Given the description of an element on the screen output the (x, y) to click on. 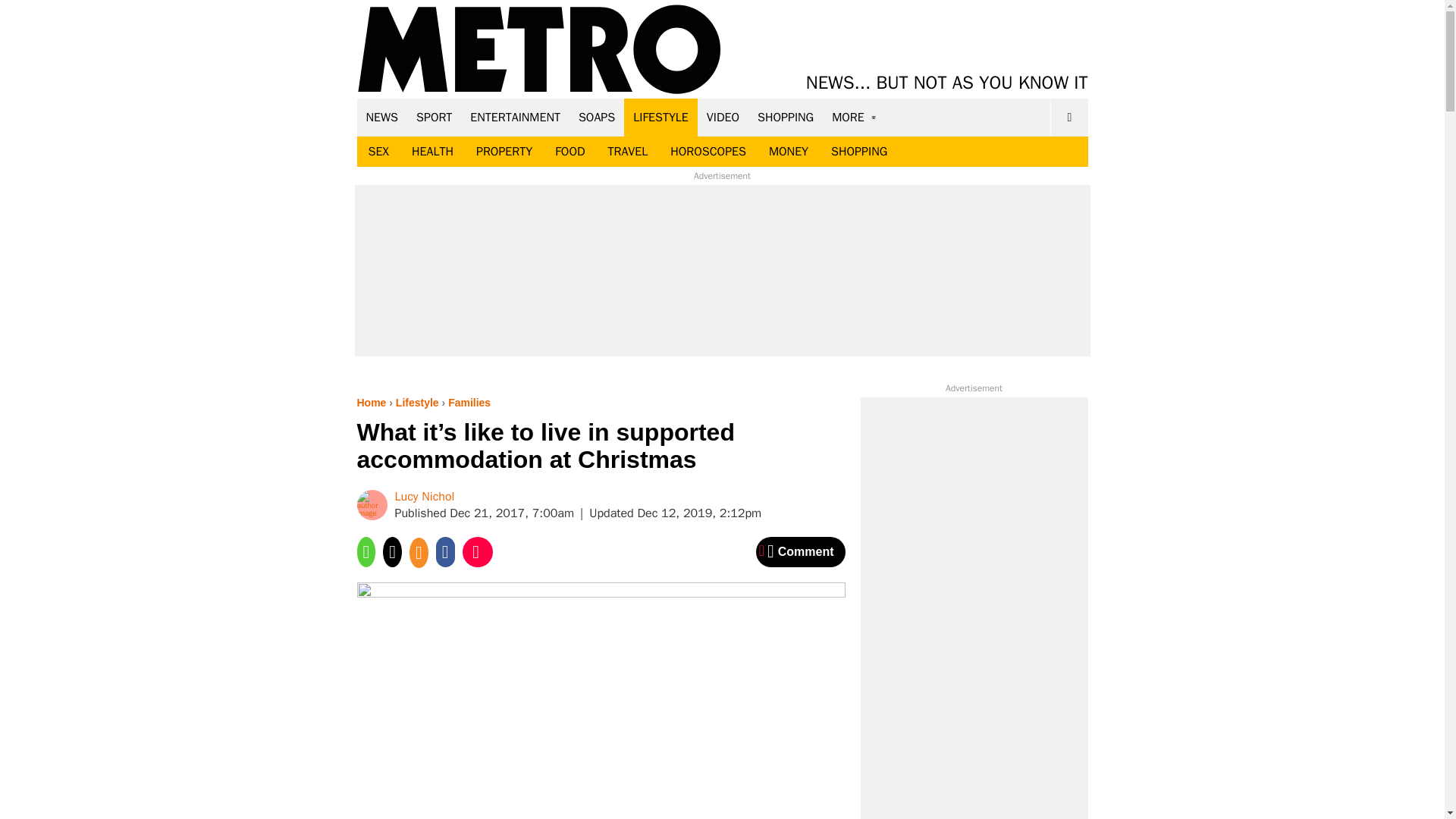
ENTERTAINMENT (515, 117)
HEALTH (432, 151)
SPORT (434, 117)
Metro (539, 50)
LIFESTYLE (660, 117)
FOOD (569, 151)
SEX (377, 151)
PROPERTY (503, 151)
NEWS (381, 117)
SOAPS (596, 117)
